Given the description of an element on the screen output the (x, y) to click on. 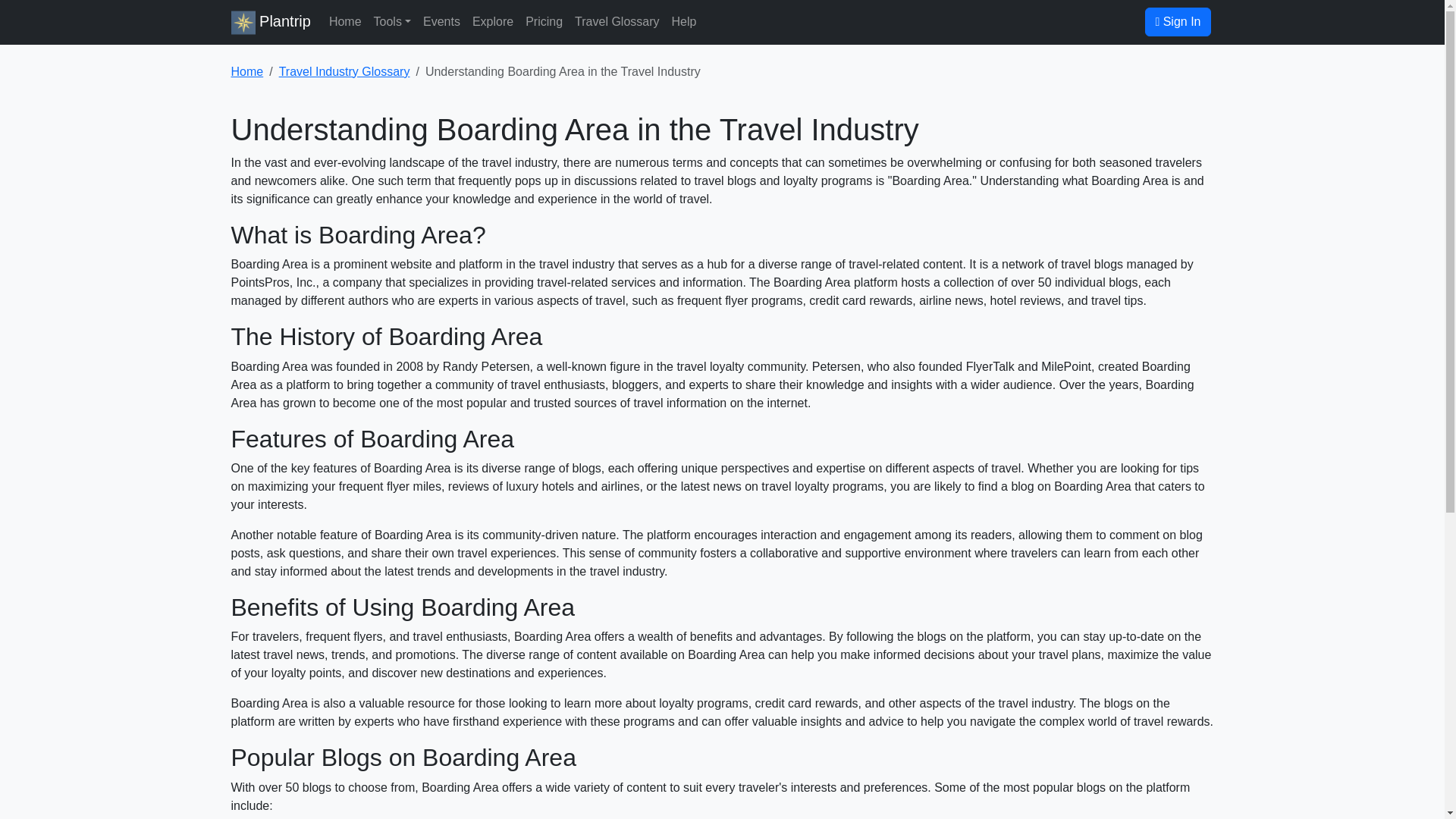
Help (684, 21)
Travel Glossary (617, 21)
Tools (392, 21)
Plantrip (270, 21)
Home (246, 71)
Home (345, 21)
Explore (492, 21)
Travel Industry Glossary (344, 71)
Events (440, 21)
Sign In (1176, 21)
Pricing (544, 21)
